Given the description of an element on the screen output the (x, y) to click on. 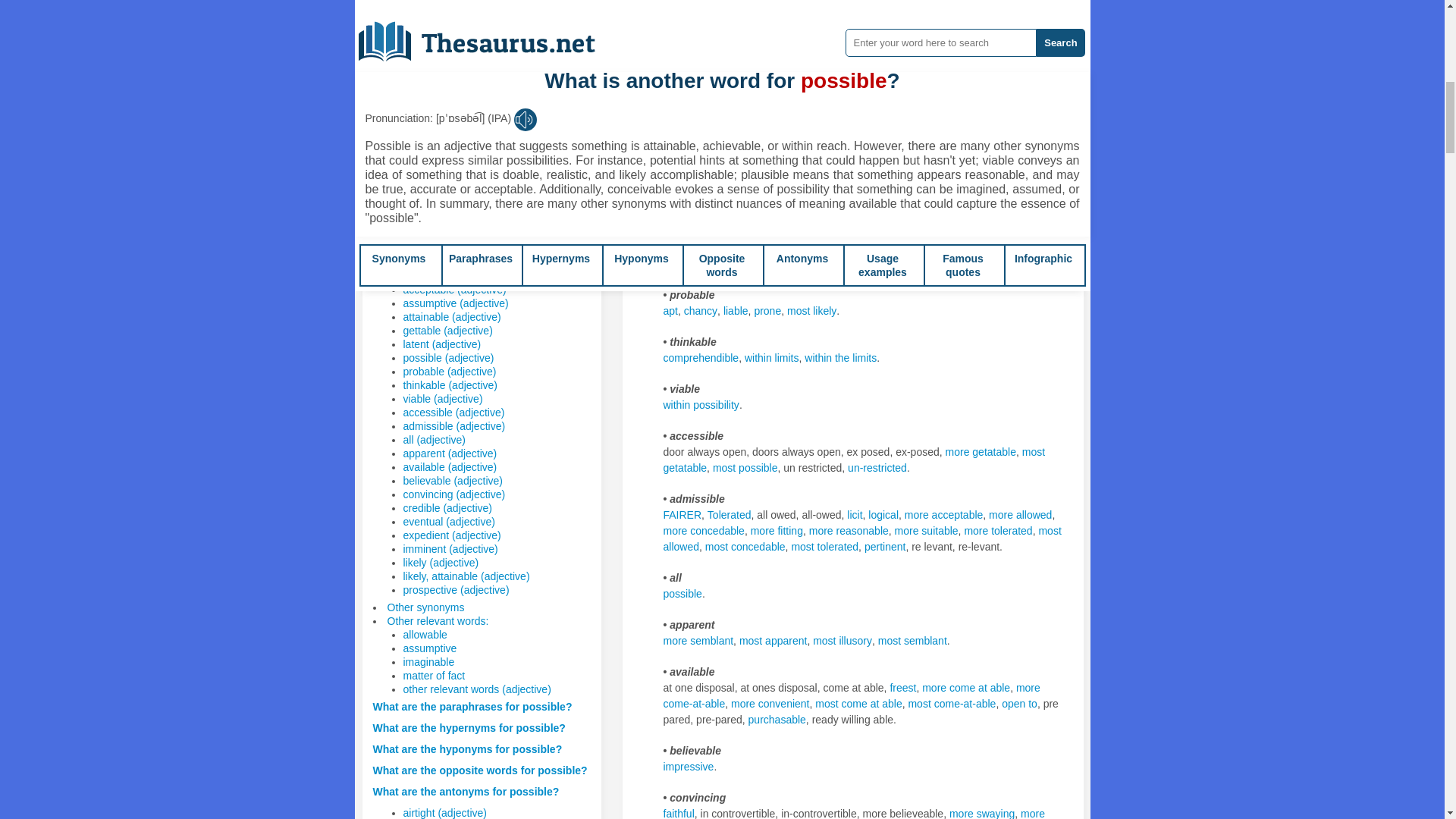
Other relevant words: (437, 621)
Other synonyms (425, 607)
Synonyms for Possible (700, 310)
Synonyms for Possible (740, 263)
Synonyms for Possible (741, 122)
Synonyms for Possible (796, 122)
Synonyms for Possible (735, 310)
Synonyms for Possible (894, 122)
Synonyms for Possible (951, 122)
Synonyms for Possible (843, 122)
